Given the description of an element on the screen output the (x, y) to click on. 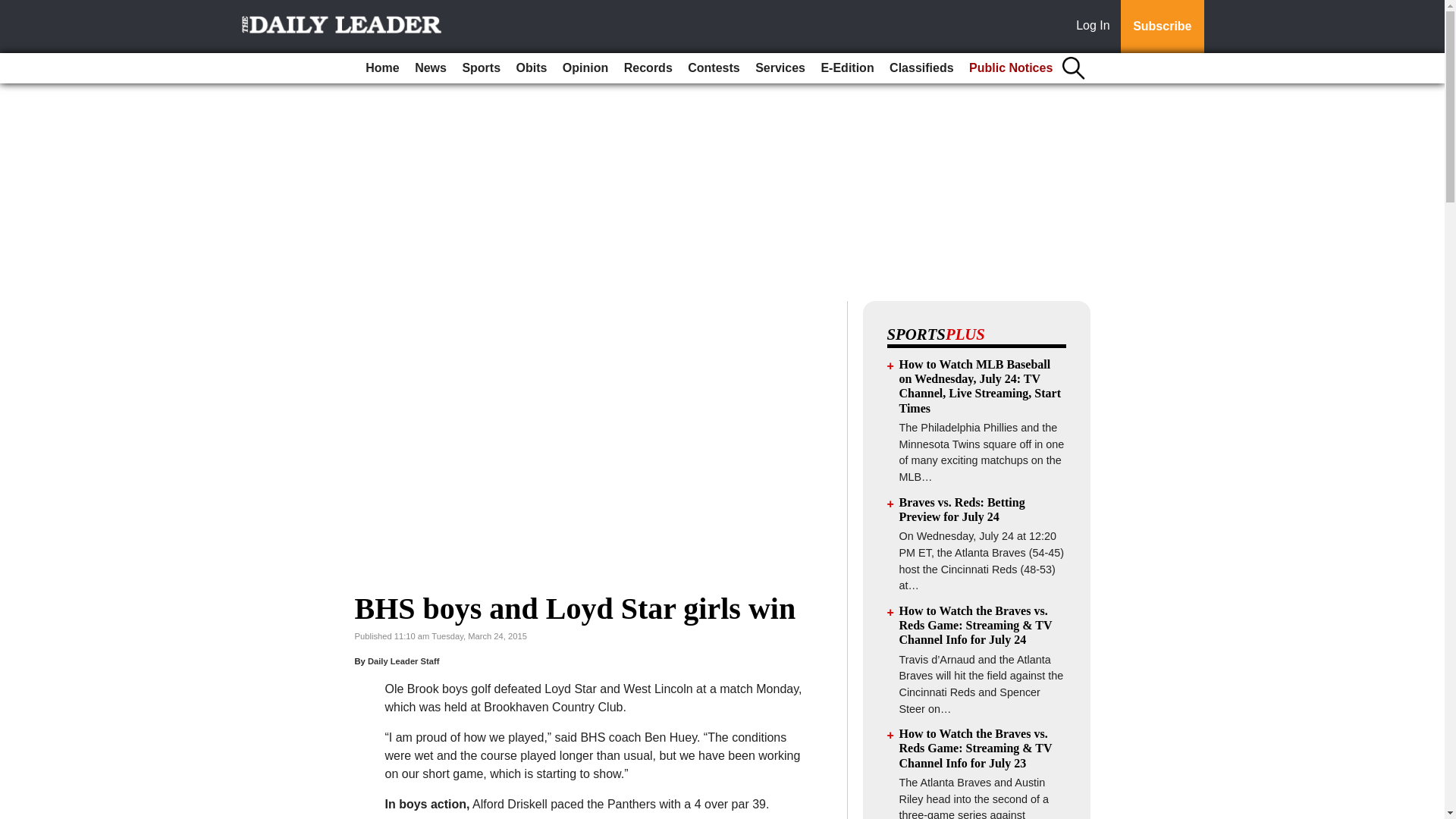
Sports (480, 68)
Services (779, 68)
Log In (1095, 26)
Braves vs. Reds: Betting Preview for July 24 (962, 509)
Daily Leader Staff (403, 660)
Go (13, 9)
Subscribe (1162, 26)
Opinion (585, 68)
Records (647, 68)
Home (381, 68)
E-Edition (846, 68)
Public Notices (1010, 68)
Contests (713, 68)
Obits (532, 68)
